Given the description of an element on the screen output the (x, y) to click on. 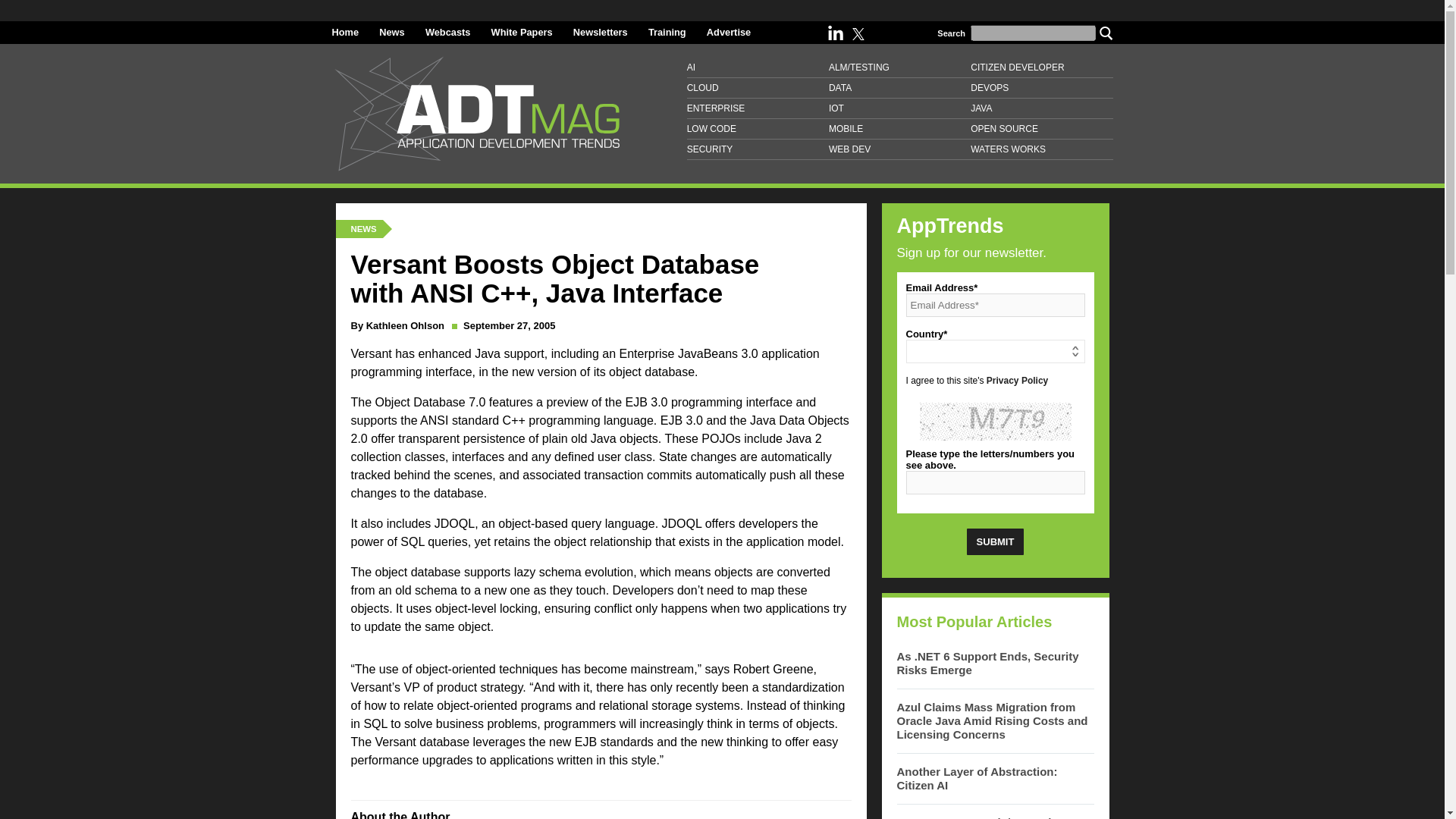
Submit (995, 541)
WATERS WORKS (1041, 149)
Advertise (728, 31)
JAVA (1041, 108)
MOBILE (899, 128)
Search (1106, 32)
DATA (899, 87)
IOT (899, 108)
Webcasts (447, 31)
Home (345, 31)
